Given the description of an element on the screen output the (x, y) to click on. 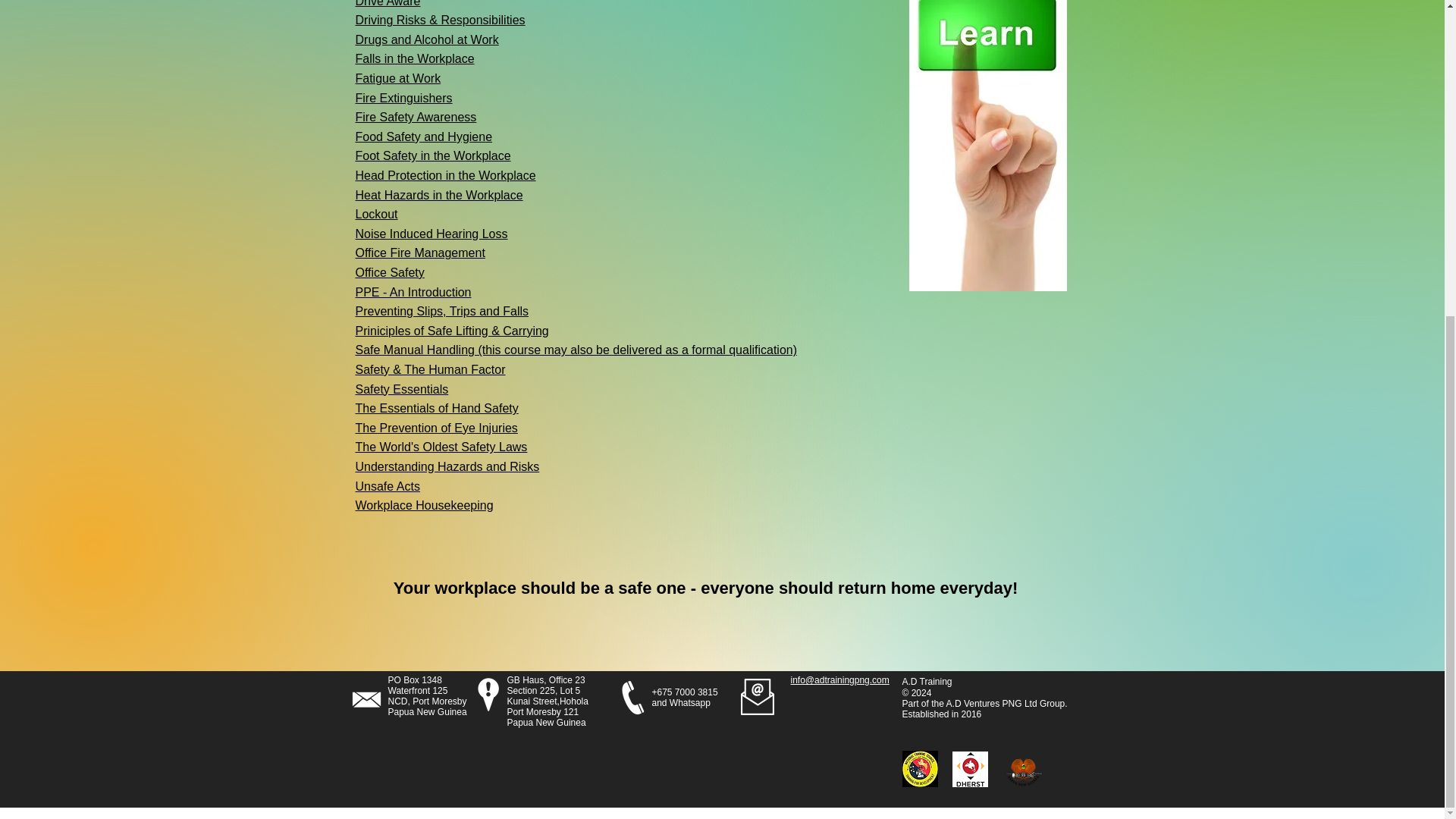
dherst logo.png (970, 769)
